Given the description of an element on the screen output the (x, y) to click on. 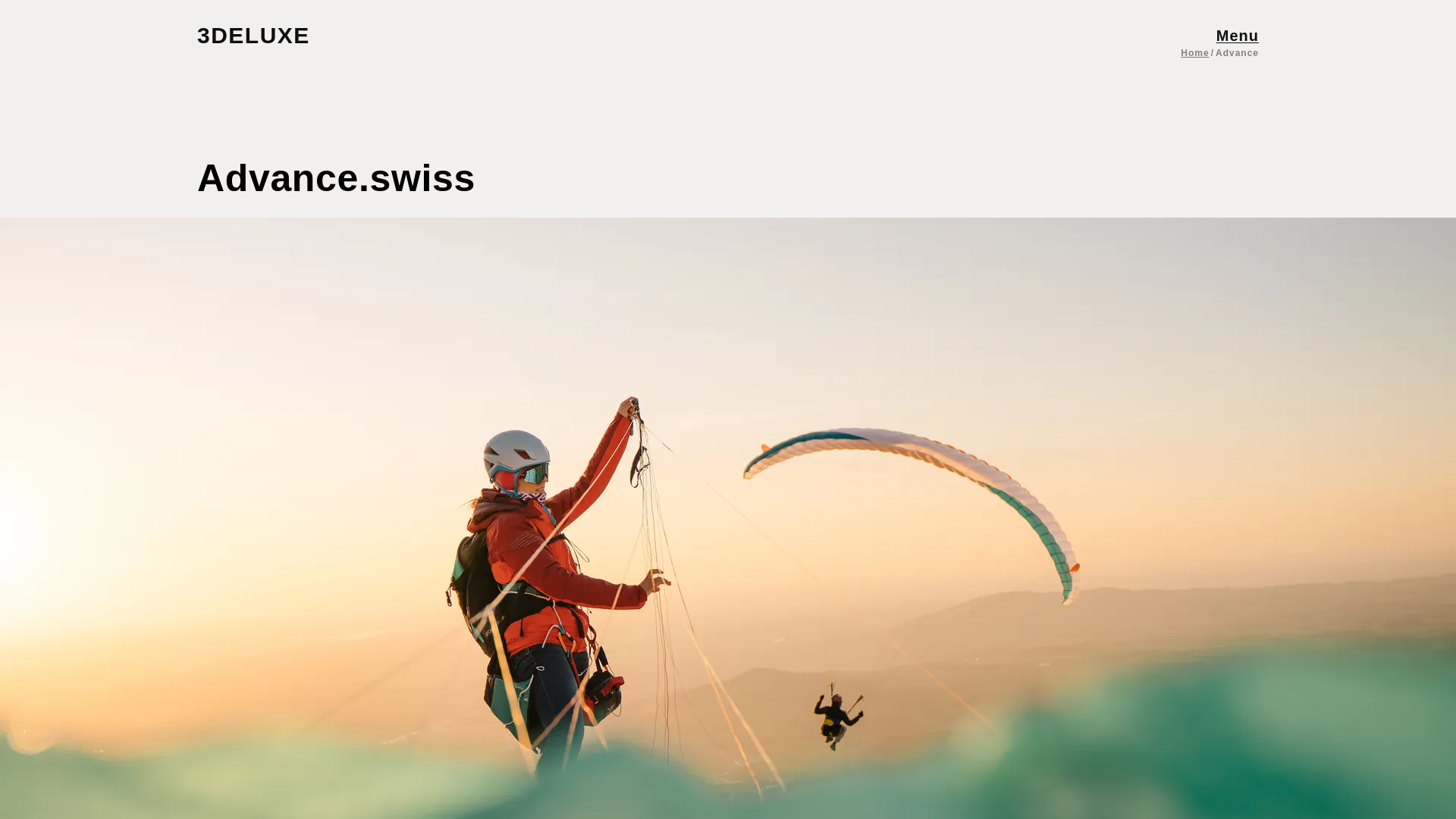
Home (1194, 52)
3DELUXE (268, 35)
Menu (1237, 35)
